Given the description of an element on the screen output the (x, y) to click on. 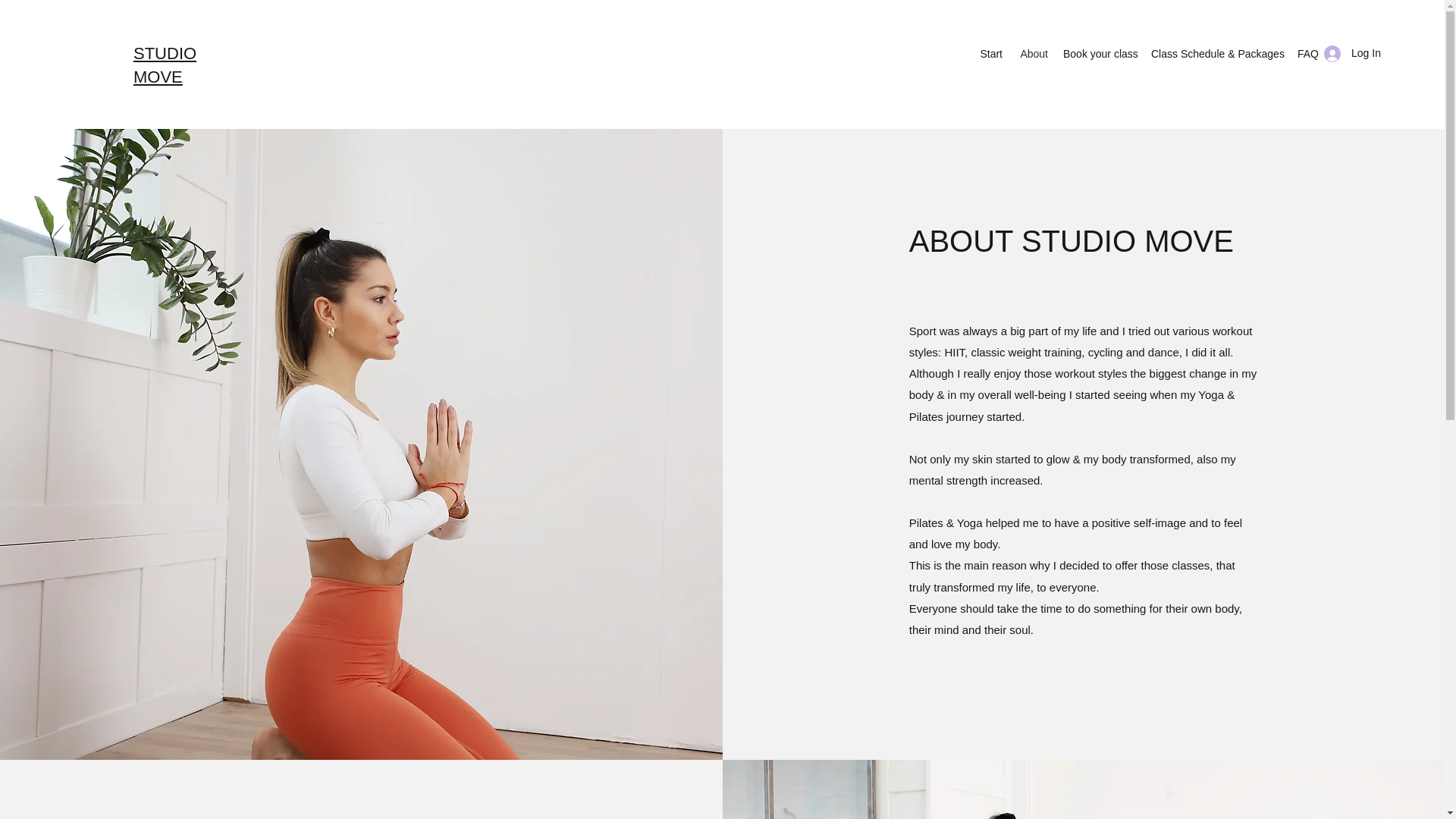
FAQ (1307, 53)
About (1032, 53)
STUDIO MOVE (164, 65)
Book your class (1098, 53)
Log In (1347, 53)
Start (991, 53)
